Given the description of an element on the screen output the (x, y) to click on. 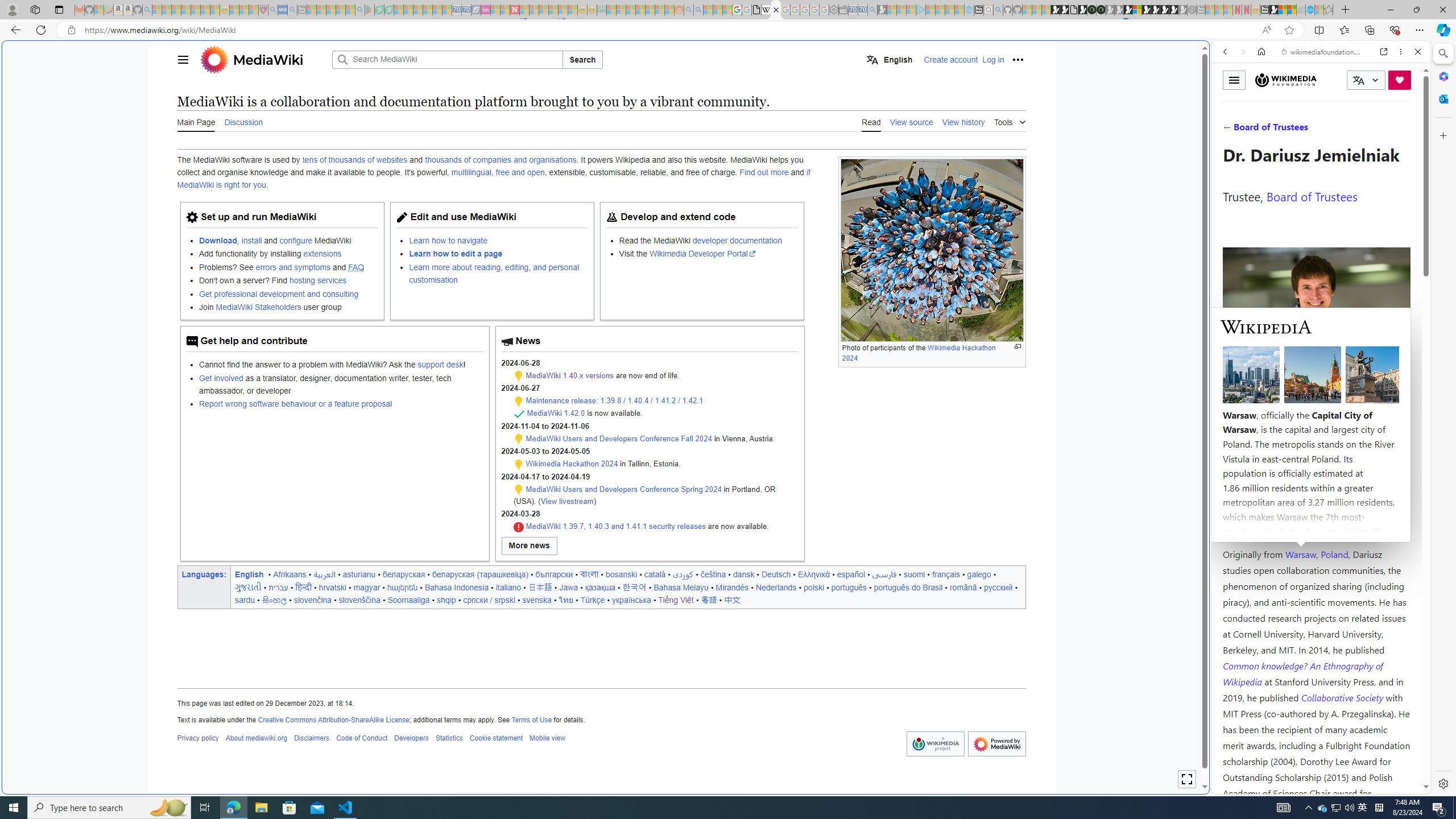
Join MediaWiki Stakeholders user group (288, 306)
Target page - Wikipedia (766, 9)
Search MediaWiki (447, 59)
Utah sues federal government - Search - Sleeping (697, 9)
14 Common Myths Debunked By Scientific Facts - Sleeping (533, 9)
list of asthma inhalers uk - Search - Sleeping (272, 9)
Log in (993, 58)
